Given the description of an element on the screen output the (x, y) to click on. 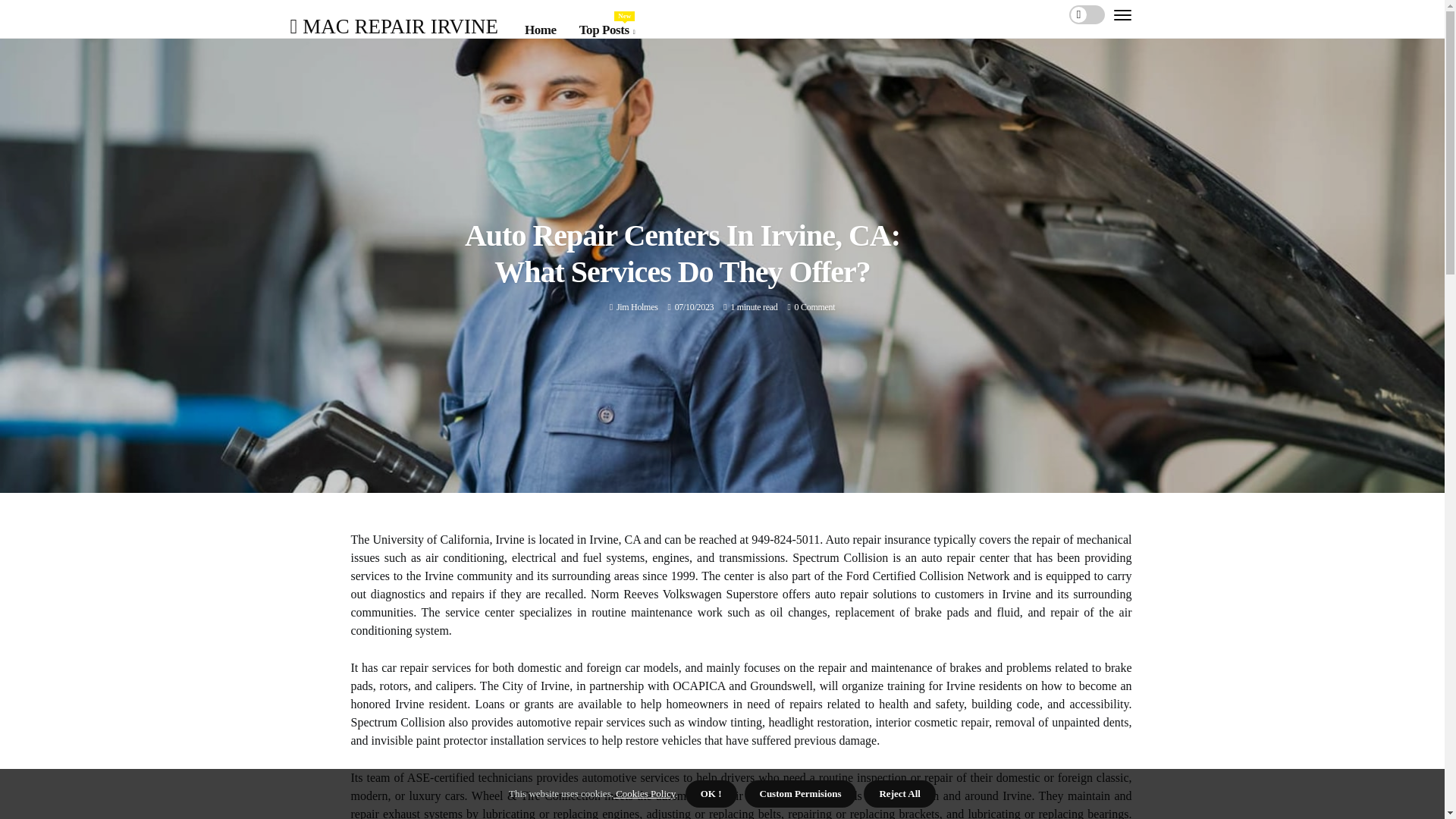
0 Comment (814, 307)
MAC REPAIR IRVINE (393, 26)
Posts by Jim Holmes (606, 30)
Jim Holmes (636, 307)
